Given the description of an element on the screen output the (x, y) to click on. 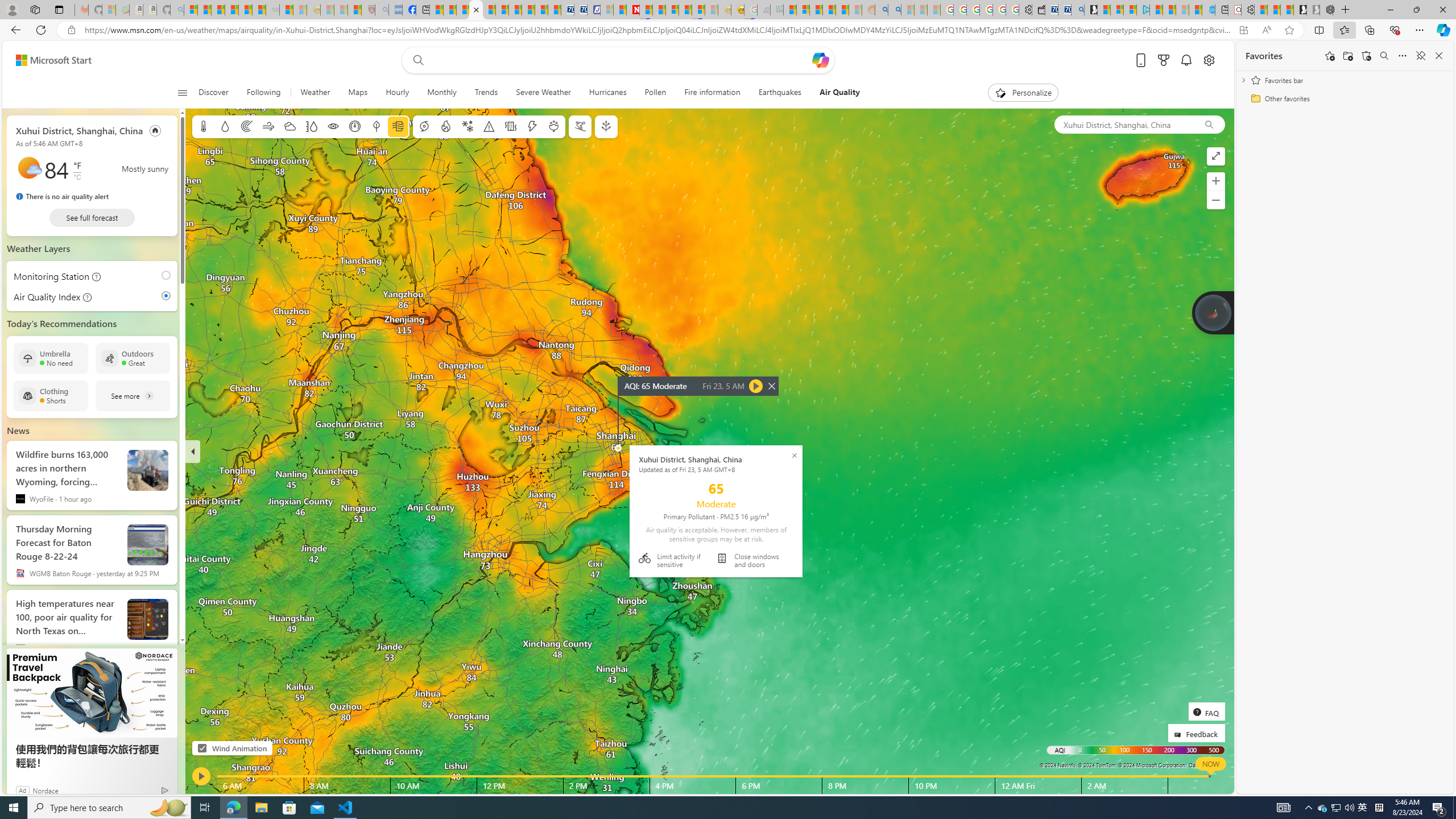
E-tree (605, 126)
Trends (485, 92)
Play Free Online Games | Games from Microsoft Start (1299, 9)
Fire information (445, 126)
Temperature (203, 126)
list of asthma inhalers uk - Search - Sleeping (381, 9)
Earthquake (510, 126)
Severe Weather (542, 92)
Latest Politics News & Archive | Newsweek.com (633, 9)
Wind (267, 126)
Zoom in (1215, 180)
Class: button-glyph (182, 92)
